Given the description of an element on the screen output the (x, y) to click on. 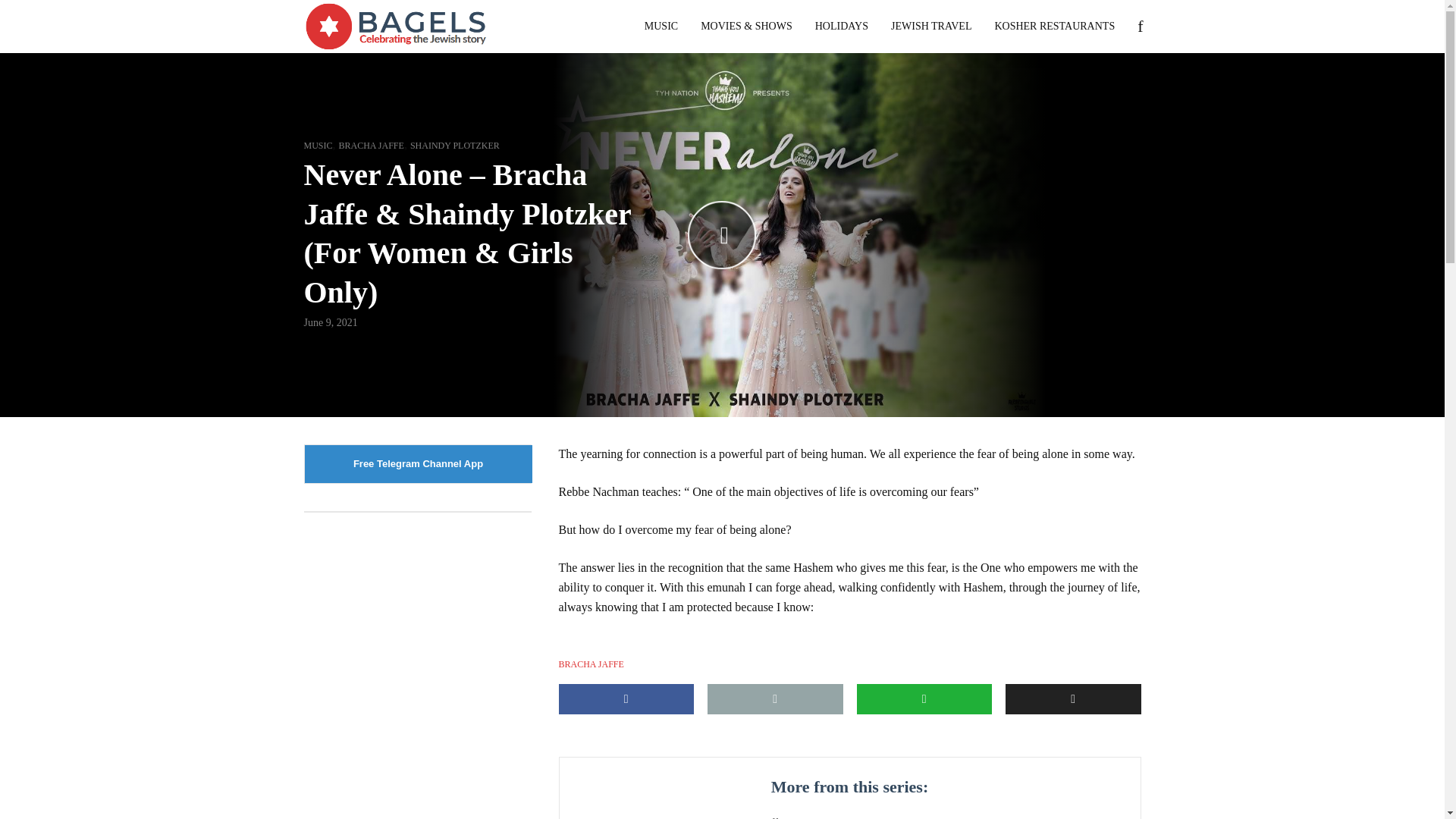
HOLIDAYS (841, 26)
JEWISH TRAVEL (930, 26)
KOSHER RESTAURANTS (1053, 26)
MUSIC (660, 26)
